Given the description of an element on the screen output the (x, y) to click on. 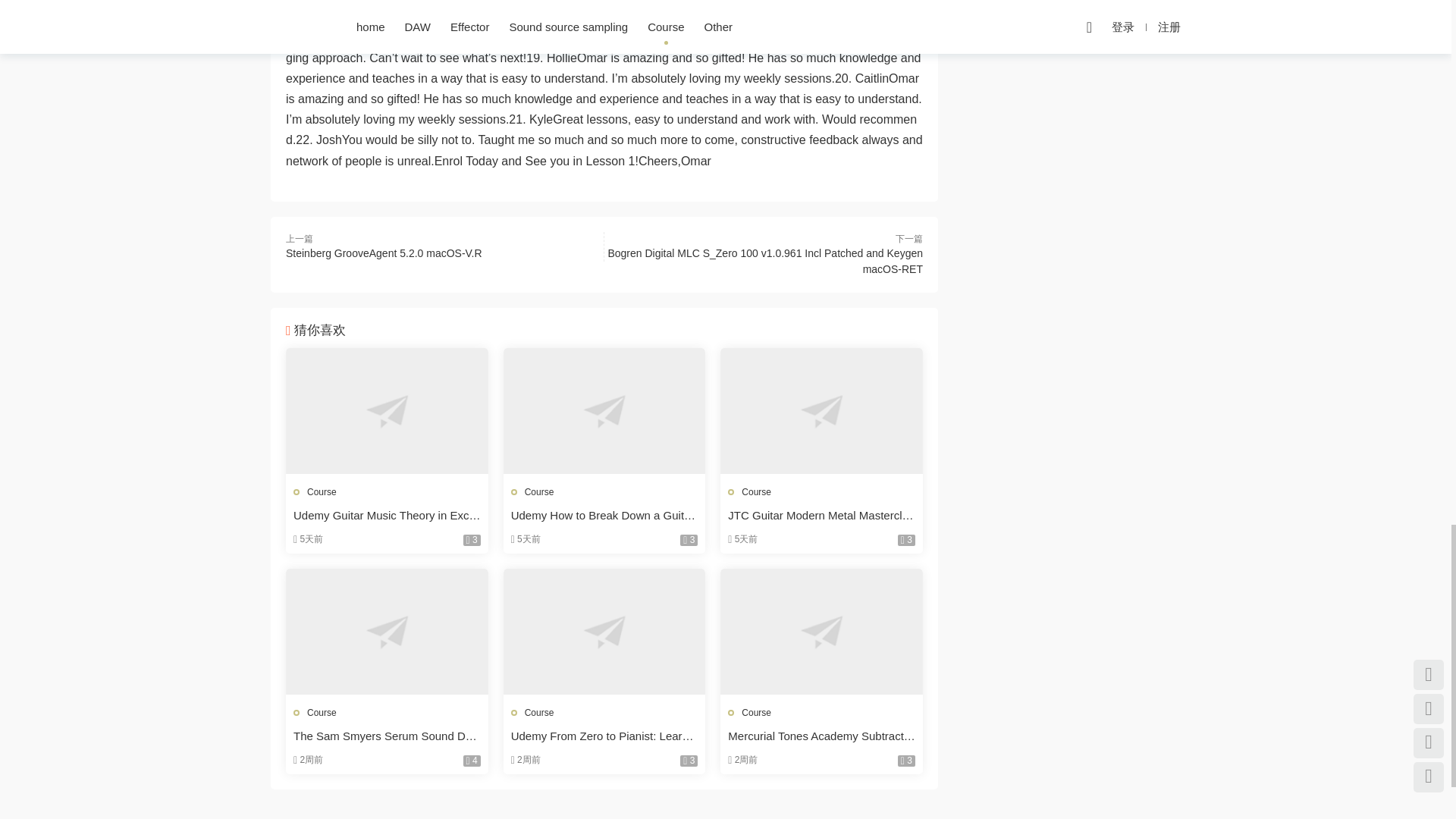
The Sam Smyers Serum Sound Design Academy-Technician1 (387, 735)
The Sam Smyers Serum Sound Design Academy-Technician1 (386, 631)
Course (321, 712)
Course (321, 491)
JTC Guitar Modern Metal Masterclass TUTORiAL (821, 411)
Course (539, 491)
JTC Guitar Modern Metal Masterclass TUTORiAL (821, 515)
Course (539, 712)
JTC Guitar Modern Metal Masterclass TUTORiAL (821, 515)
